Given the description of an element on the screen output the (x, y) to click on. 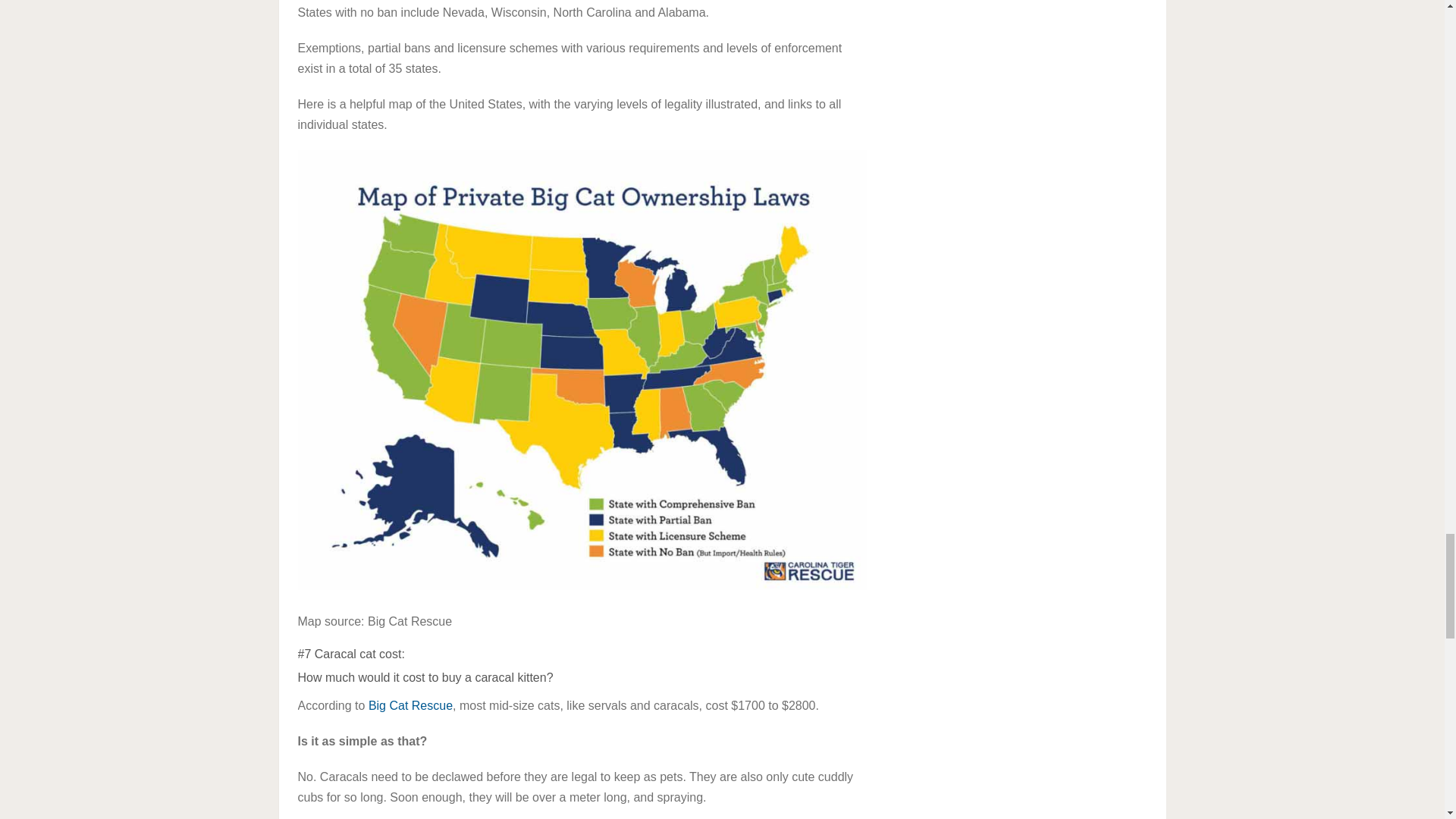
Big Cat Rescue (410, 705)
